Given the description of an element on the screen output the (x, y) to click on. 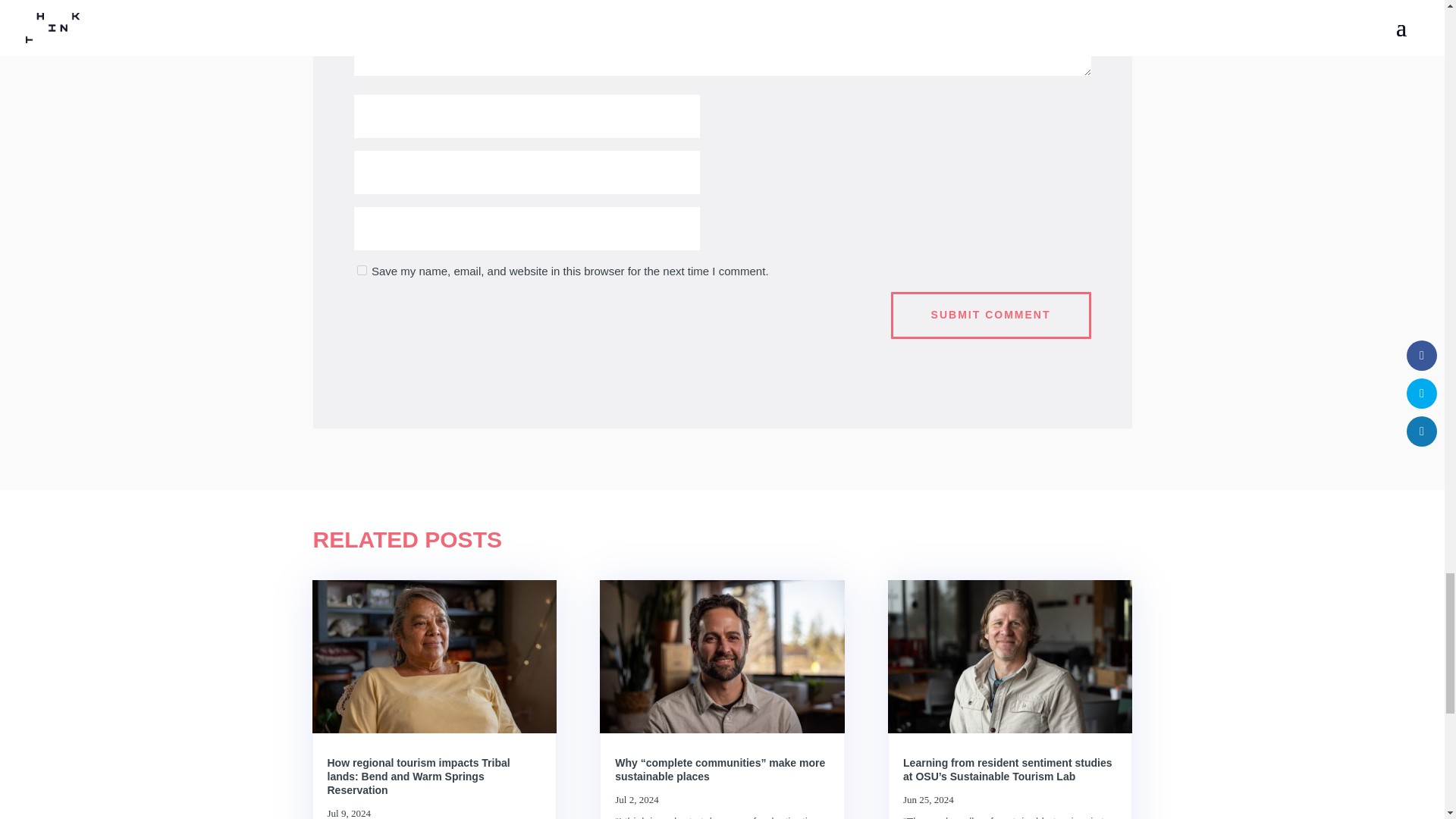
yes (361, 270)
